Given the description of an element on the screen output the (x, y) to click on. 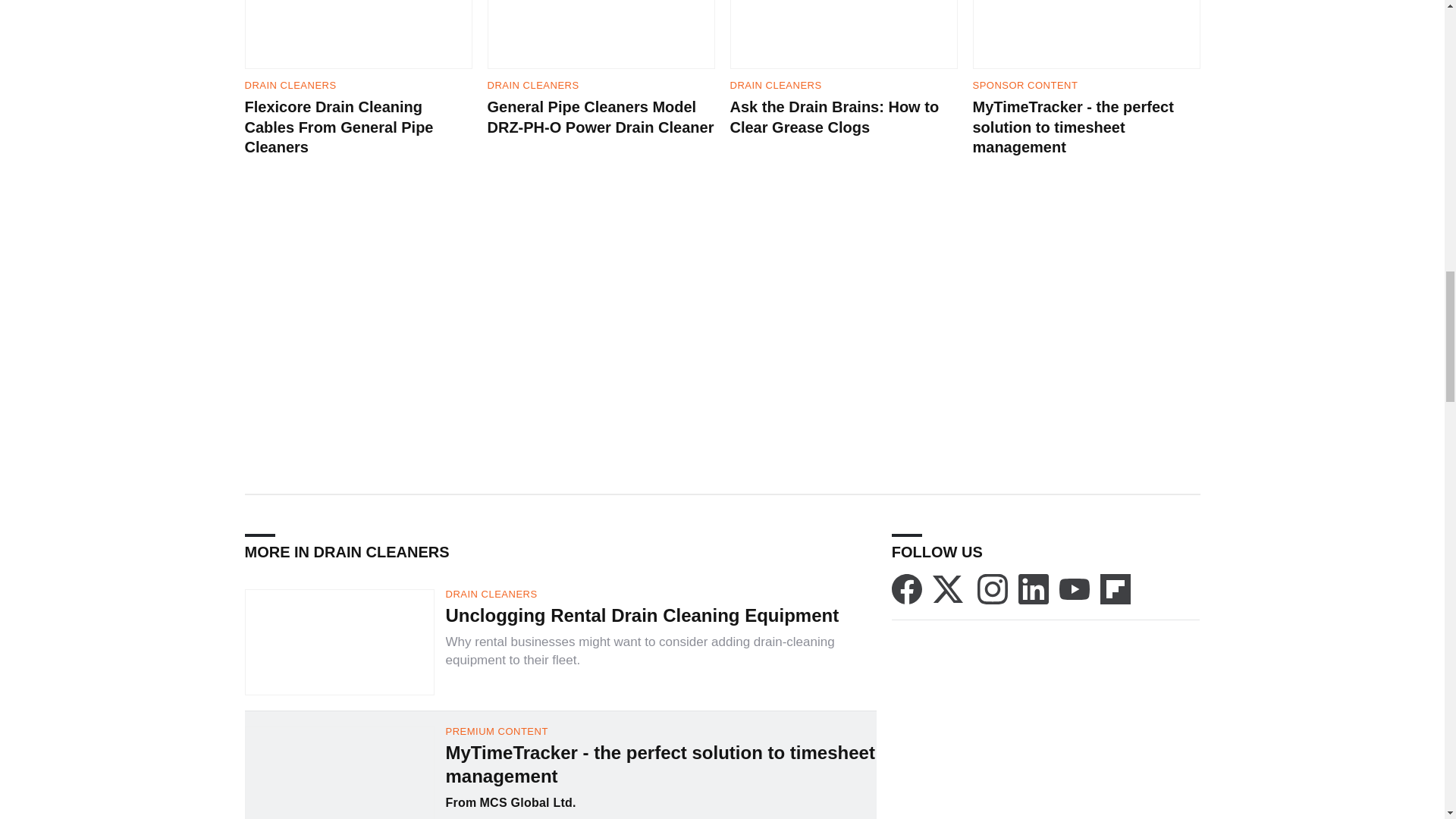
Twitter X icon (947, 589)
Instagram icon (991, 589)
Facebook icon (906, 589)
Flipboard icon (1115, 589)
YouTube icon (1074, 589)
LinkedIn icon (1032, 589)
